Given the description of an element on the screen output the (x, y) to click on. 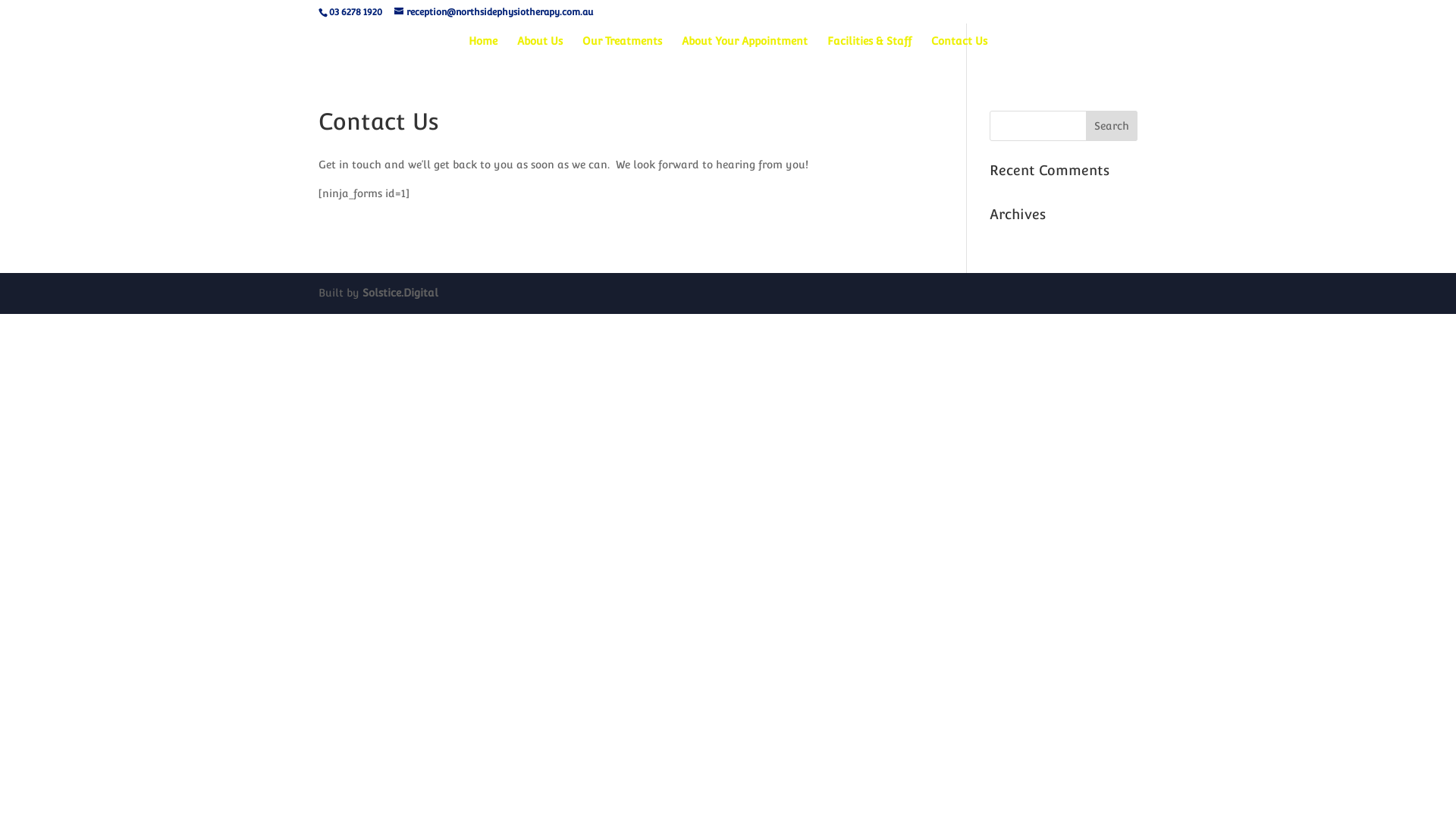
Our Treatments Element type: text (622, 51)
Home Element type: text (482, 51)
Solstice.Digital Element type: text (400, 292)
Search Element type: text (1111, 125)
reception@northsidephysiotherapy.com.au Element type: text (493, 11)
About Us Element type: text (539, 51)
Contact Us Element type: text (959, 51)
Facilities & Staff Element type: text (869, 51)
About Your Appointment Element type: text (744, 51)
